Given the description of an element on the screen output the (x, y) to click on. 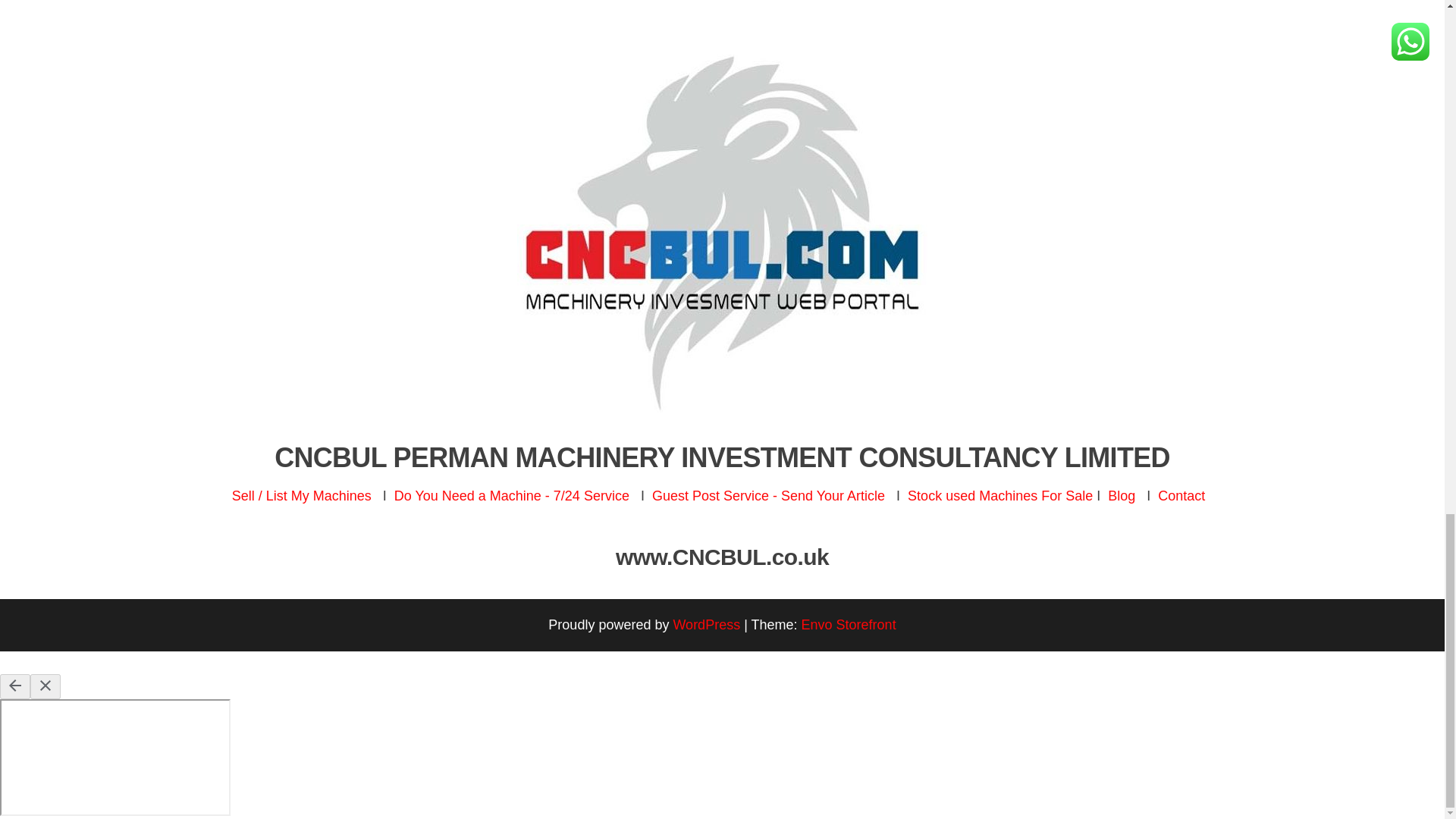
WordPress (705, 624)
Guest Post Service - Send Your Article (770, 495)
Blog (1121, 495)
Contact (1181, 495)
Envo Storefront (849, 624)
Stock used Machines For Sale (1000, 495)
